Given the description of an element on the screen output the (x, y) to click on. 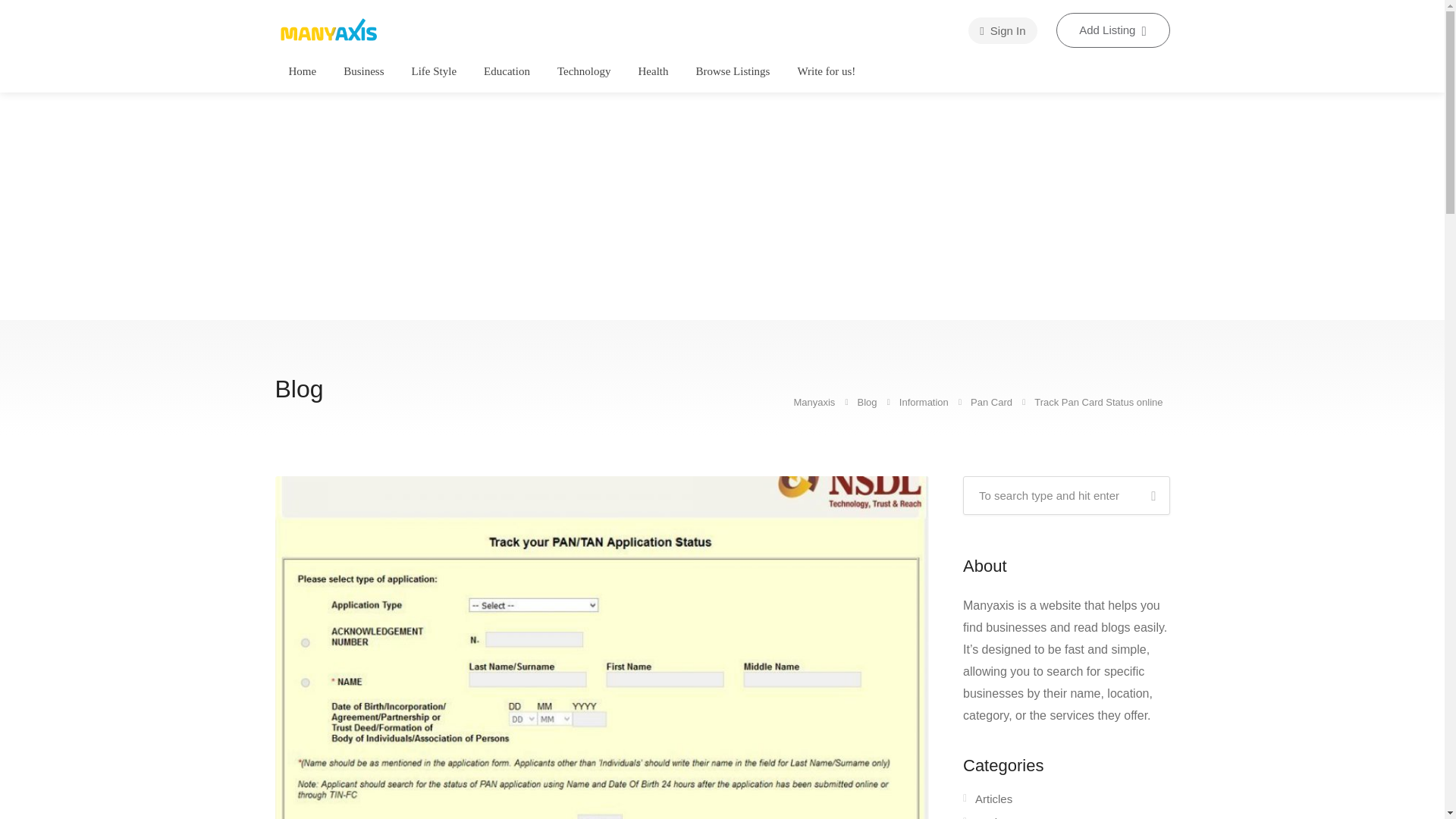
Go to the Pan Card Category archives. (992, 401)
Go to the Information Category archives. (924, 401)
Browse Listings (732, 71)
Business (362, 71)
Write for us! (826, 71)
Sign In (1002, 30)
Home (303, 71)
Health (653, 71)
Information (924, 401)
Manyaxis (815, 401)
Technology (584, 71)
Go to Blog. (868, 401)
Go to Manyaxis. (815, 401)
Manyaxis (327, 29)
